Given the description of an element on the screen output the (x, y) to click on. 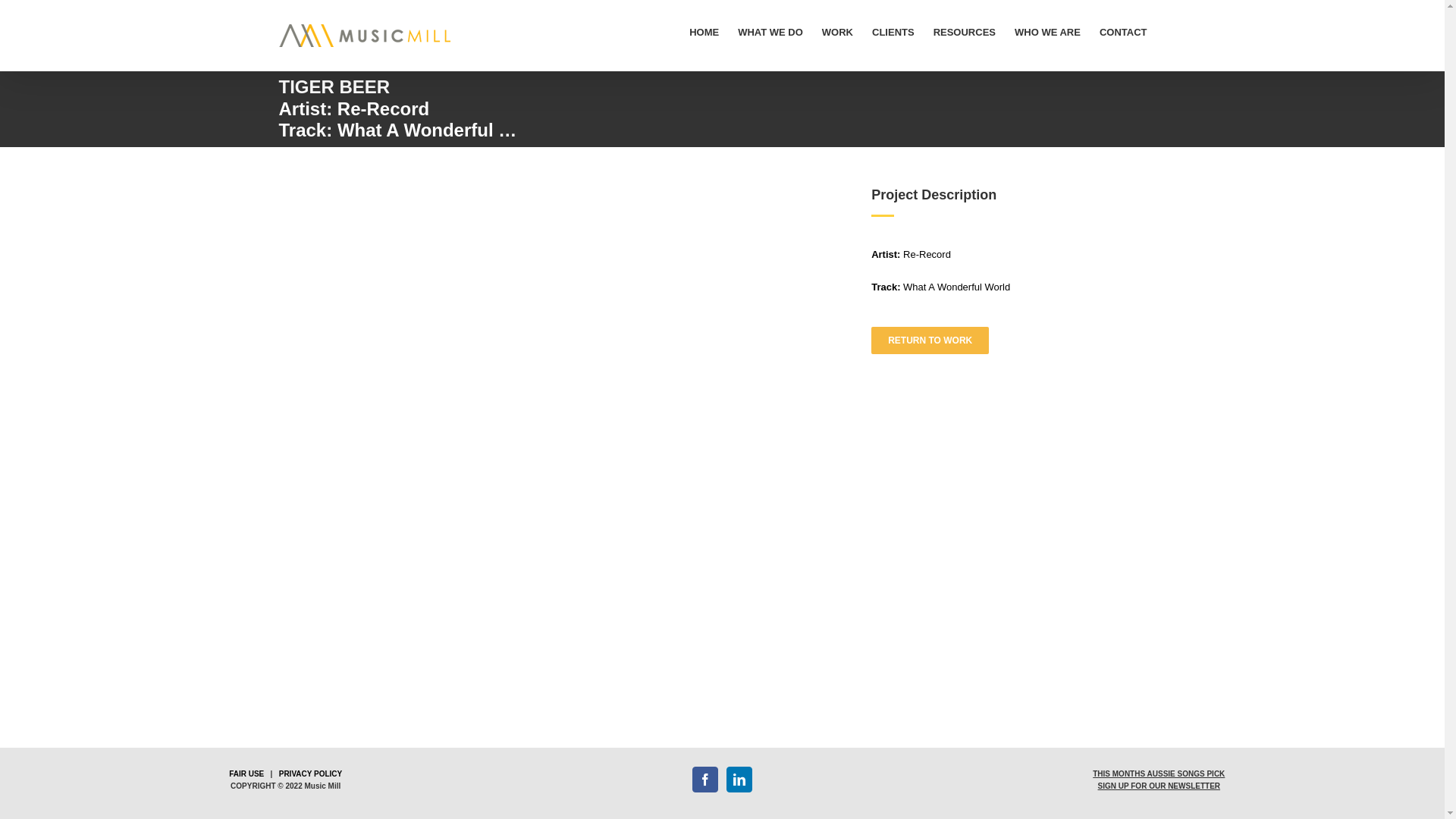
WORK Element type: text (837, 31)
HOME Element type: text (703, 31)
PRIVACY POLICY Element type: text (310, 773)
RETURN TO WORK Element type: text (929, 340)
FAIR USE Element type: text (246, 773)
THIS MONTHS AUSSIE SONGS PICK Element type: text (1158, 773)
WHO WE ARE Element type: text (1047, 31)
RESOURCES Element type: text (964, 31)
CONTACT Element type: text (1123, 31)
SIGN UP FOR OUR NEWSLETTER Element type: text (1159, 785)
CLIENTS Element type: text (893, 31)
YouTube video player 1 Element type: hover (558, 345)
WHAT WE DO Element type: text (770, 31)
